Given the description of an element on the screen output the (x, y) to click on. 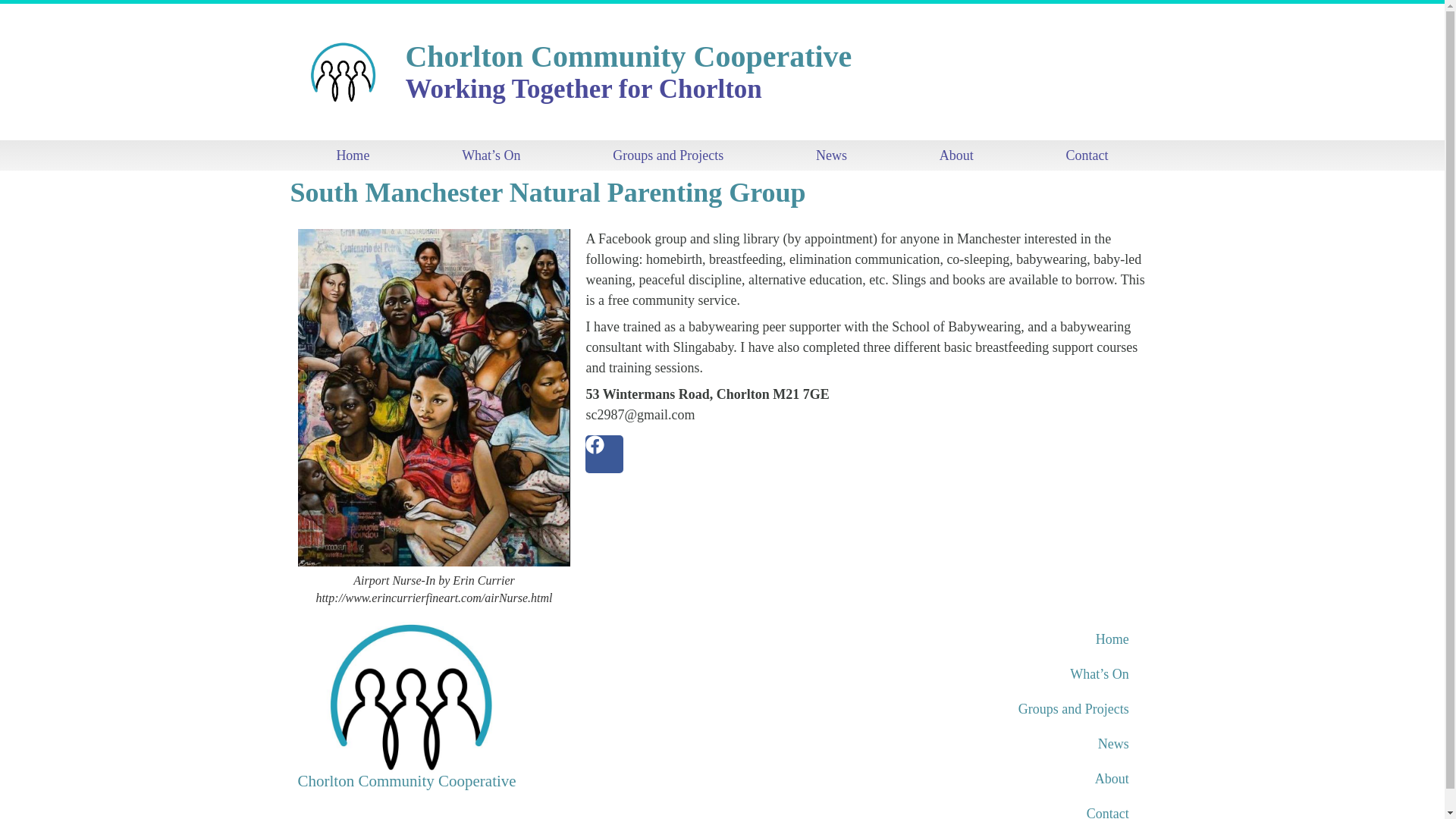
Contact (1007, 807)
Chin Up Duck: Home (351, 155)
About (956, 155)
About (1007, 778)
Chorlton Community Cooperative (406, 781)
News (831, 155)
Chin Up Duck: Home (1007, 638)
Home (351, 155)
Contact (1087, 155)
Home (1007, 638)
